Given the description of an element on the screen output the (x, y) to click on. 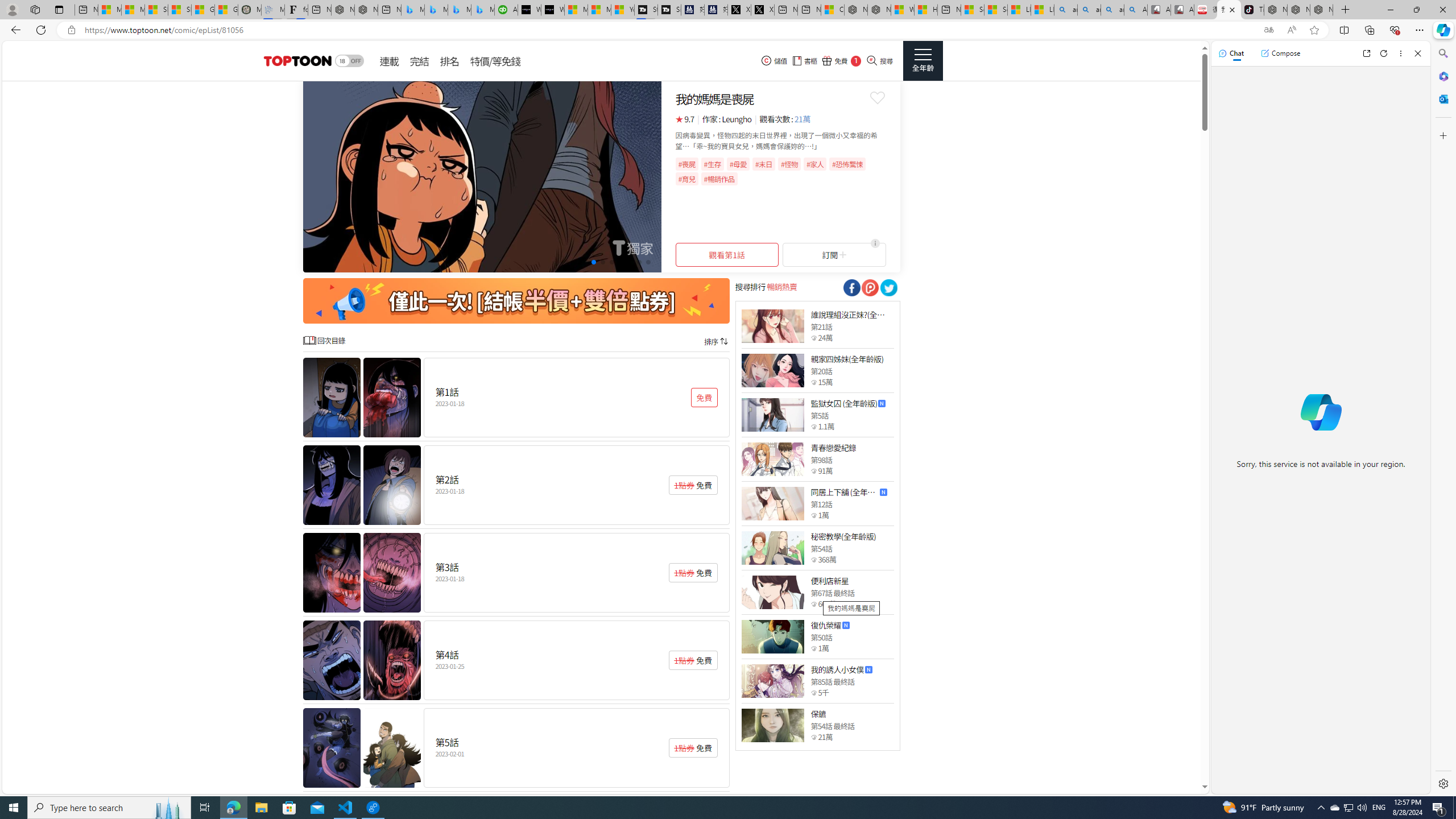
Side bar (1443, 418)
Address and search bar (669, 29)
Back (13, 29)
amazon - Search (1089, 9)
Read aloud this page (Ctrl+Shift+U) (1291, 29)
Nordace Siena Pro 15 Backpack (1298, 9)
Go to slide 7 (620, 261)
Gilma and Hector both pose tropical trouble for Hawaii (226, 9)
All Cubot phones (1182, 9)
